Given the description of an element on the screen output the (x, y) to click on. 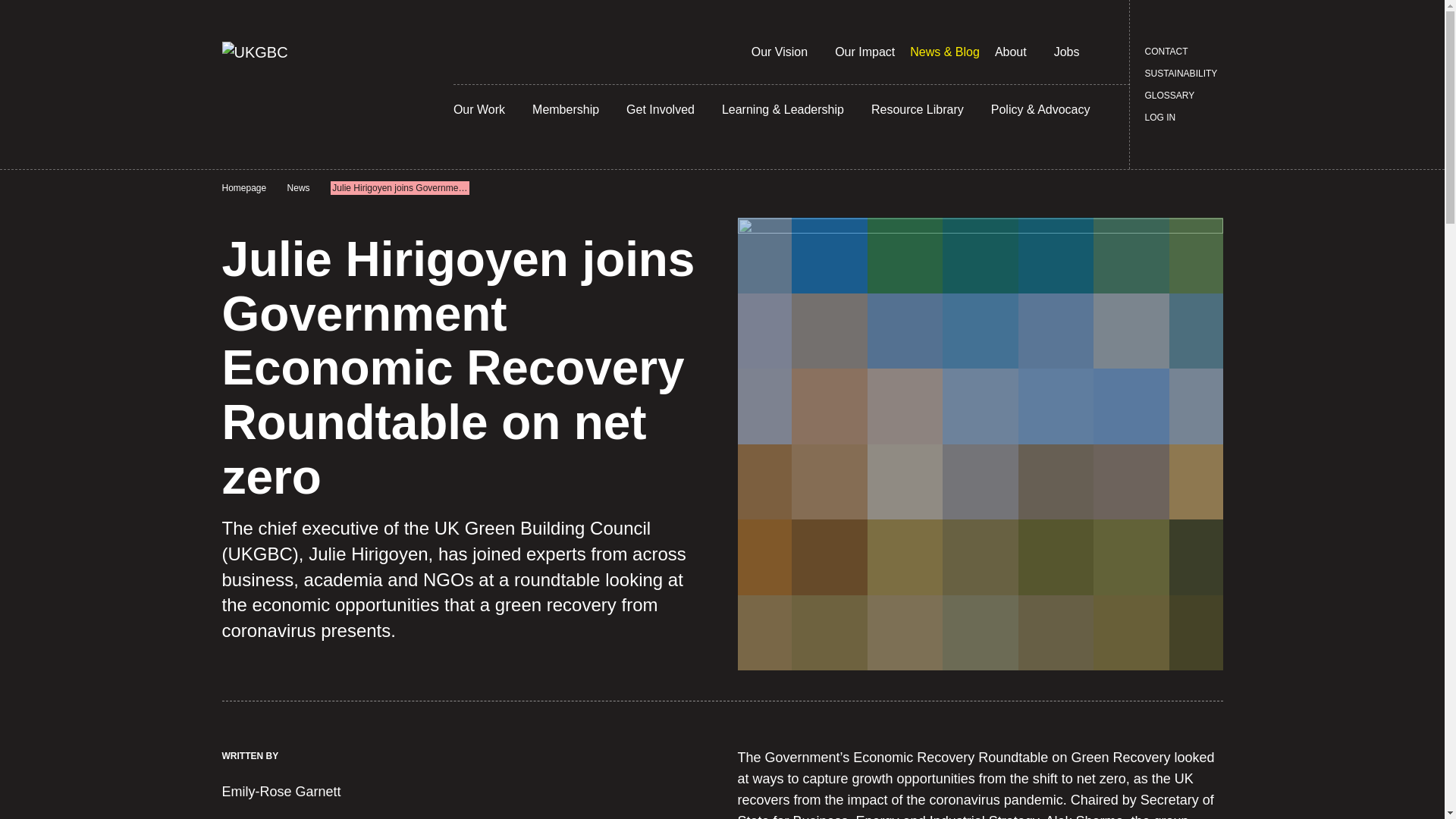
SUSTAINABILITY (1180, 73)
Our Vision (779, 52)
LOG IN (1160, 117)
Jobs (1067, 52)
GLOSSARY (1169, 95)
Homepage (243, 187)
About (1010, 52)
Our Impact (864, 52)
News (298, 187)
Membership (565, 109)
